Given the description of an element on the screen output the (x, y) to click on. 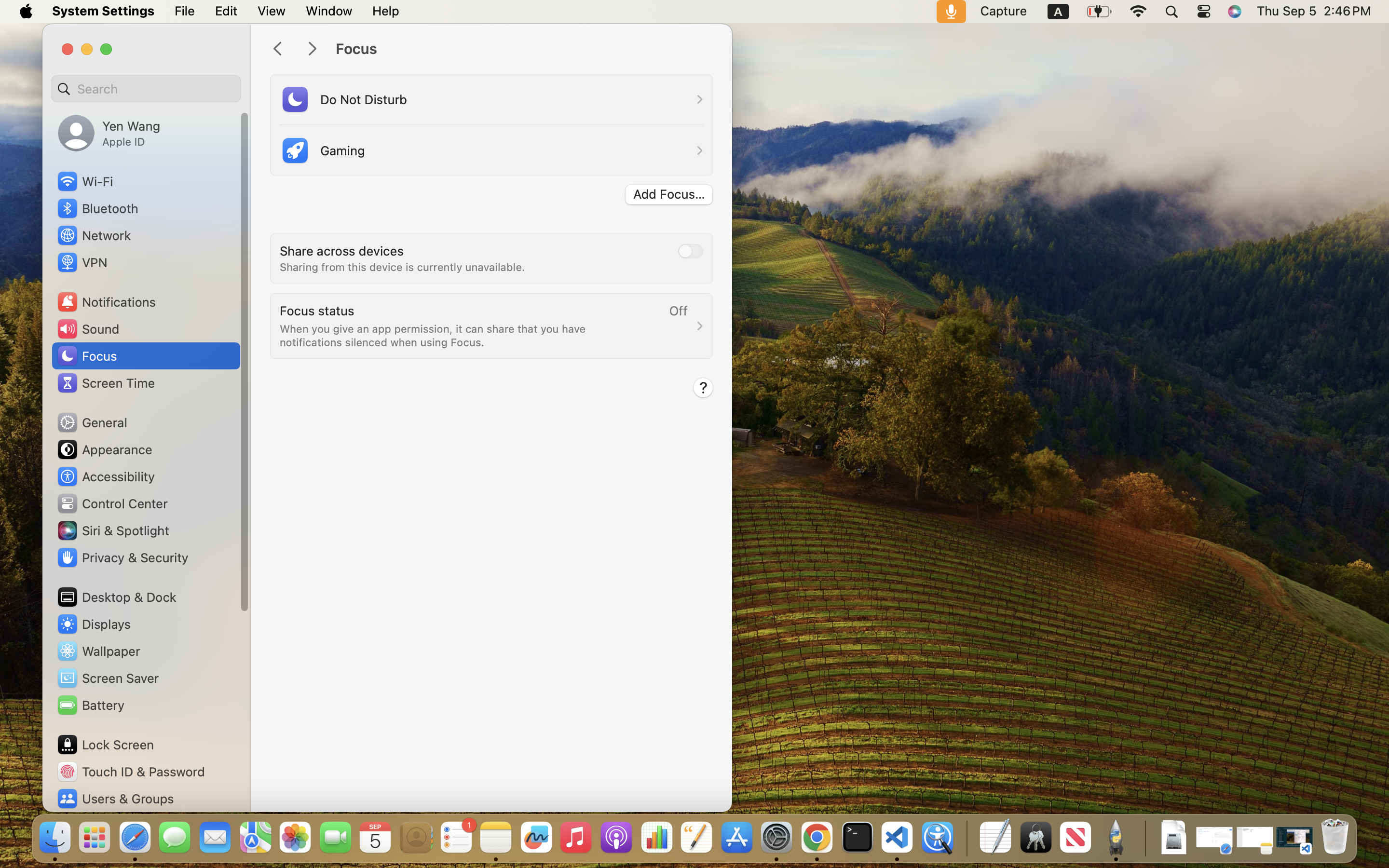
General Element type: AXStaticText (91, 422)
Screen Saver Element type: AXStaticText (107, 677)
0.4285714328289032 Element type: AXDockItem (965, 837)
Siri & Spotlight Element type: AXStaticText (111, 530)
Desktop & Dock Element type: AXStaticText (115, 596)
